Given the description of an element on the screen output the (x, y) to click on. 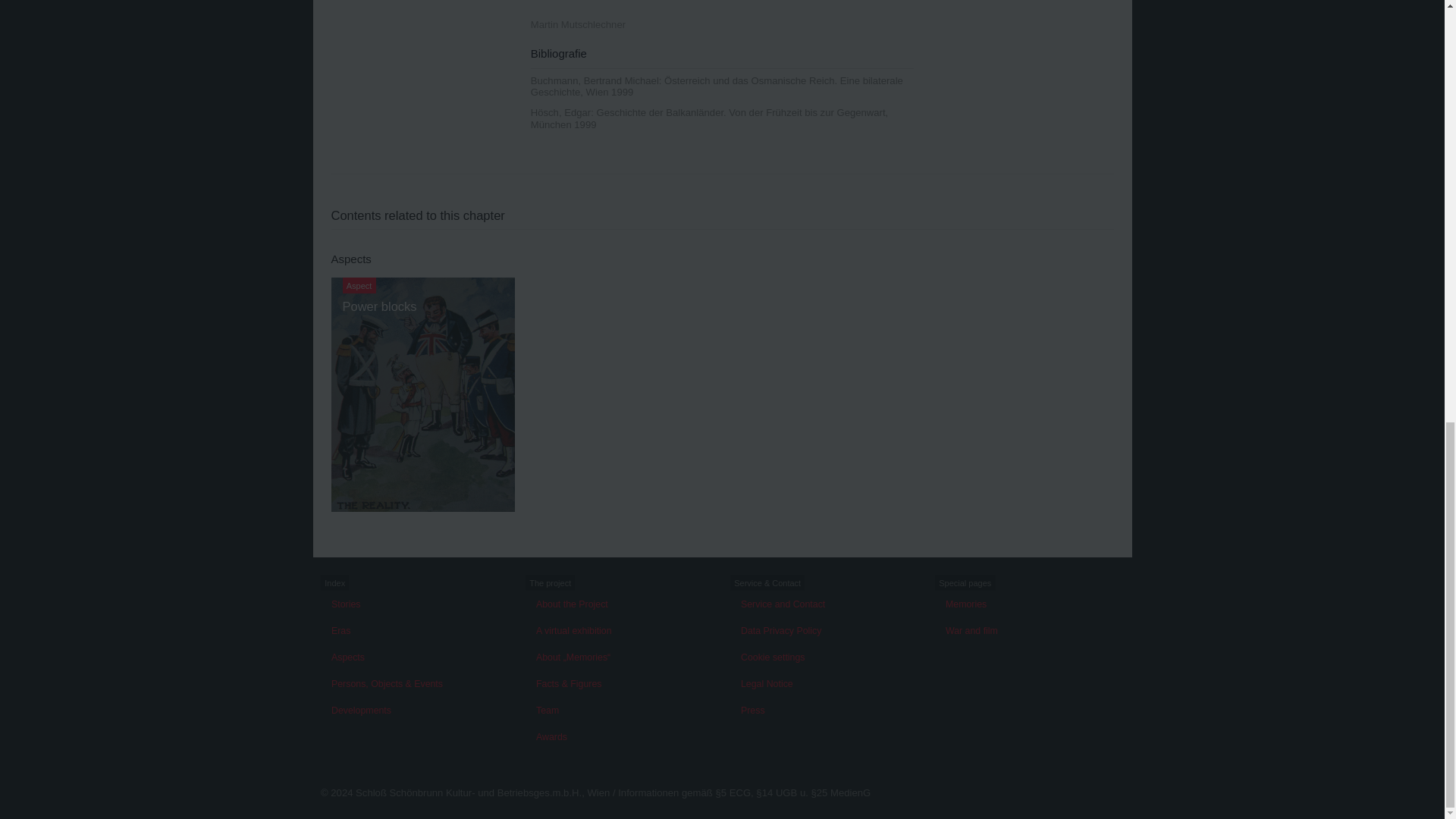
Martin Mutschlechner (578, 24)
